Given the description of an element on the screen output the (x, y) to click on. 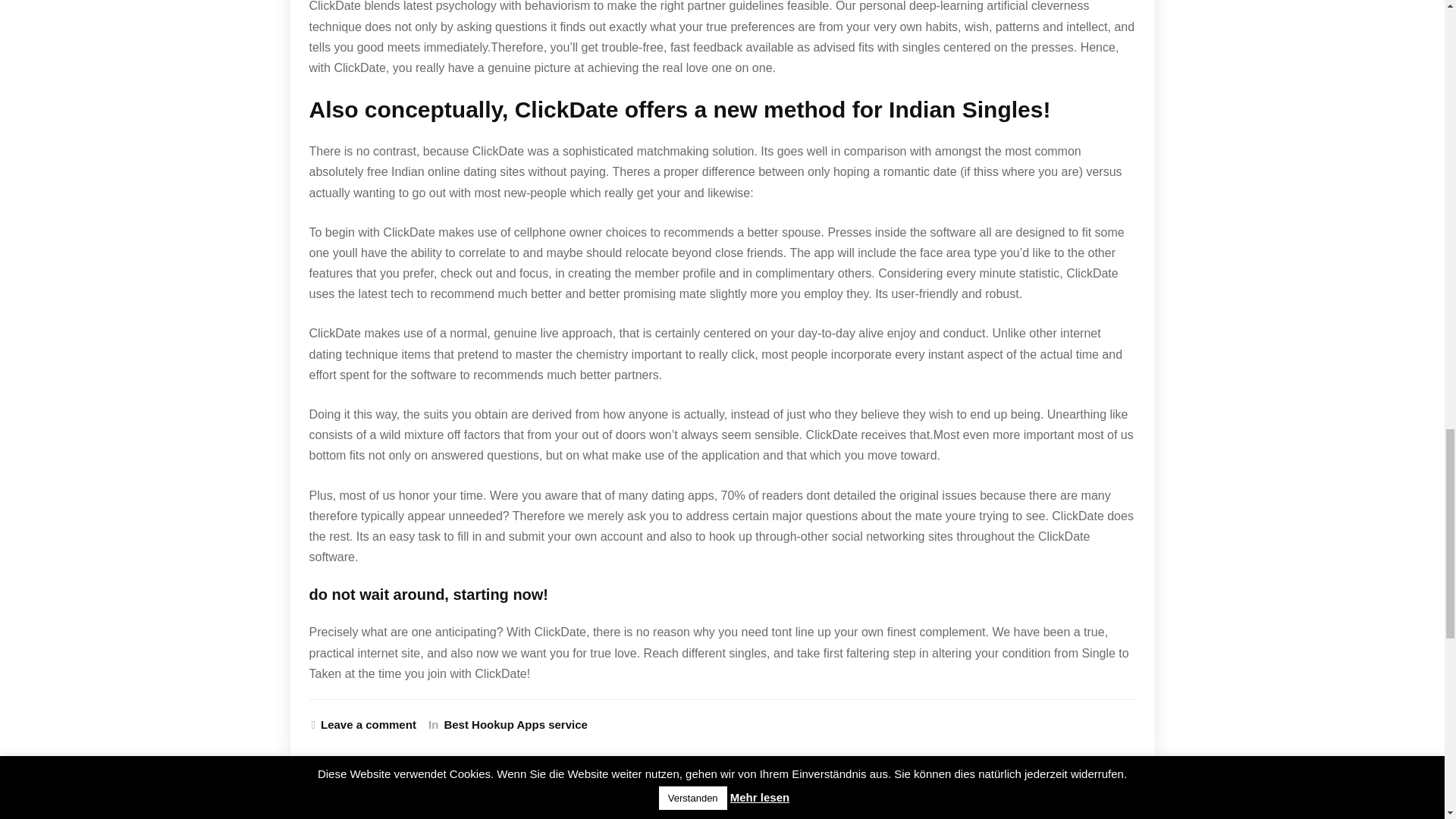
Best Hookup Apps service (513, 724)
Leave a comment (363, 724)
